Given the description of an element on the screen output the (x, y) to click on. 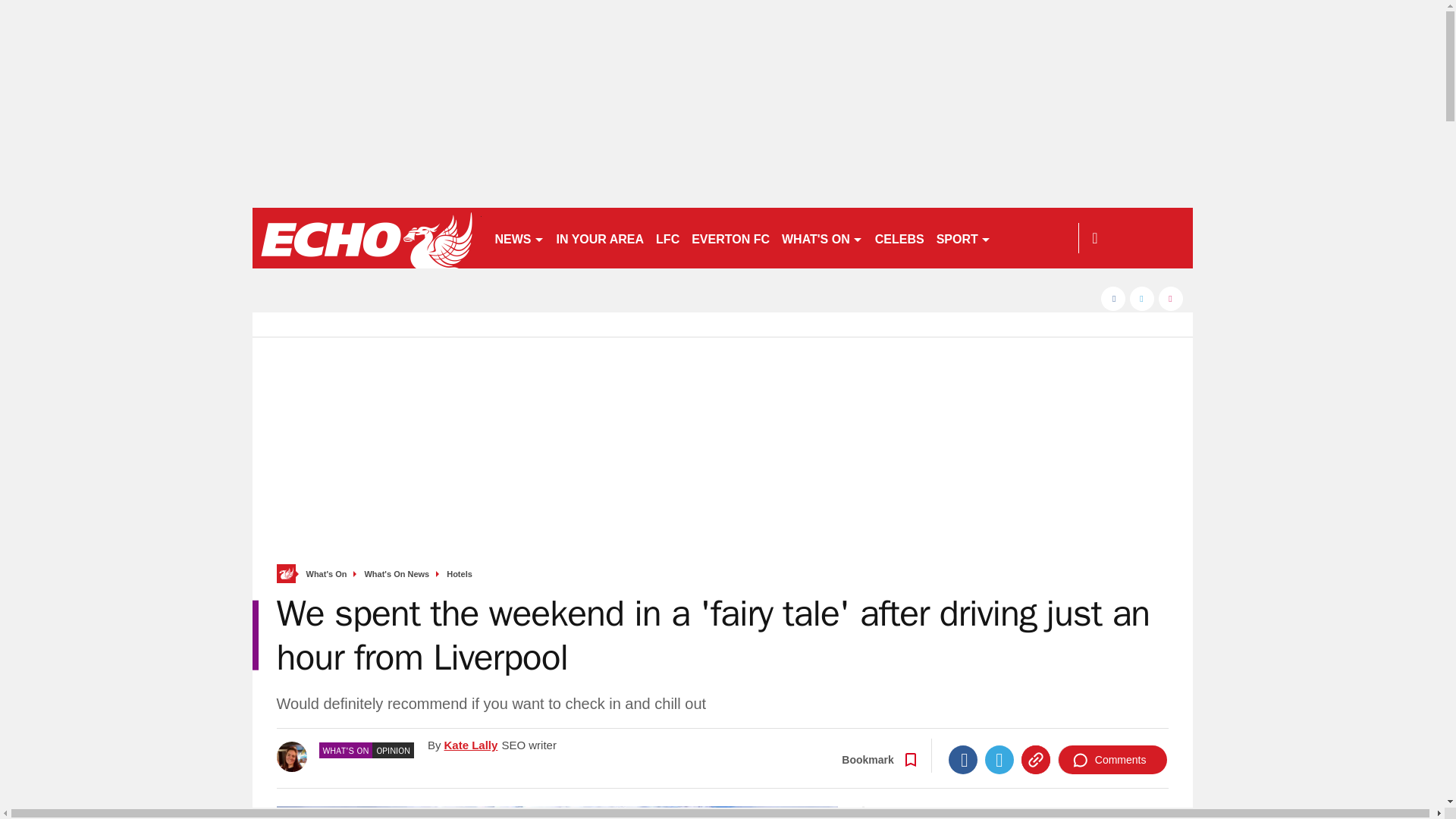
Facebook (962, 759)
NEWS (518, 238)
CELEBS (899, 238)
WHAT'S ON (822, 238)
EVERTON FC (730, 238)
instagram (1170, 298)
twitter (1141, 298)
SPORT (963, 238)
Comments (1112, 759)
liverpoolecho (365, 238)
IN YOUR AREA (600, 238)
Twitter (999, 759)
facebook (1112, 298)
